Given the description of an element on the screen output the (x, y) to click on. 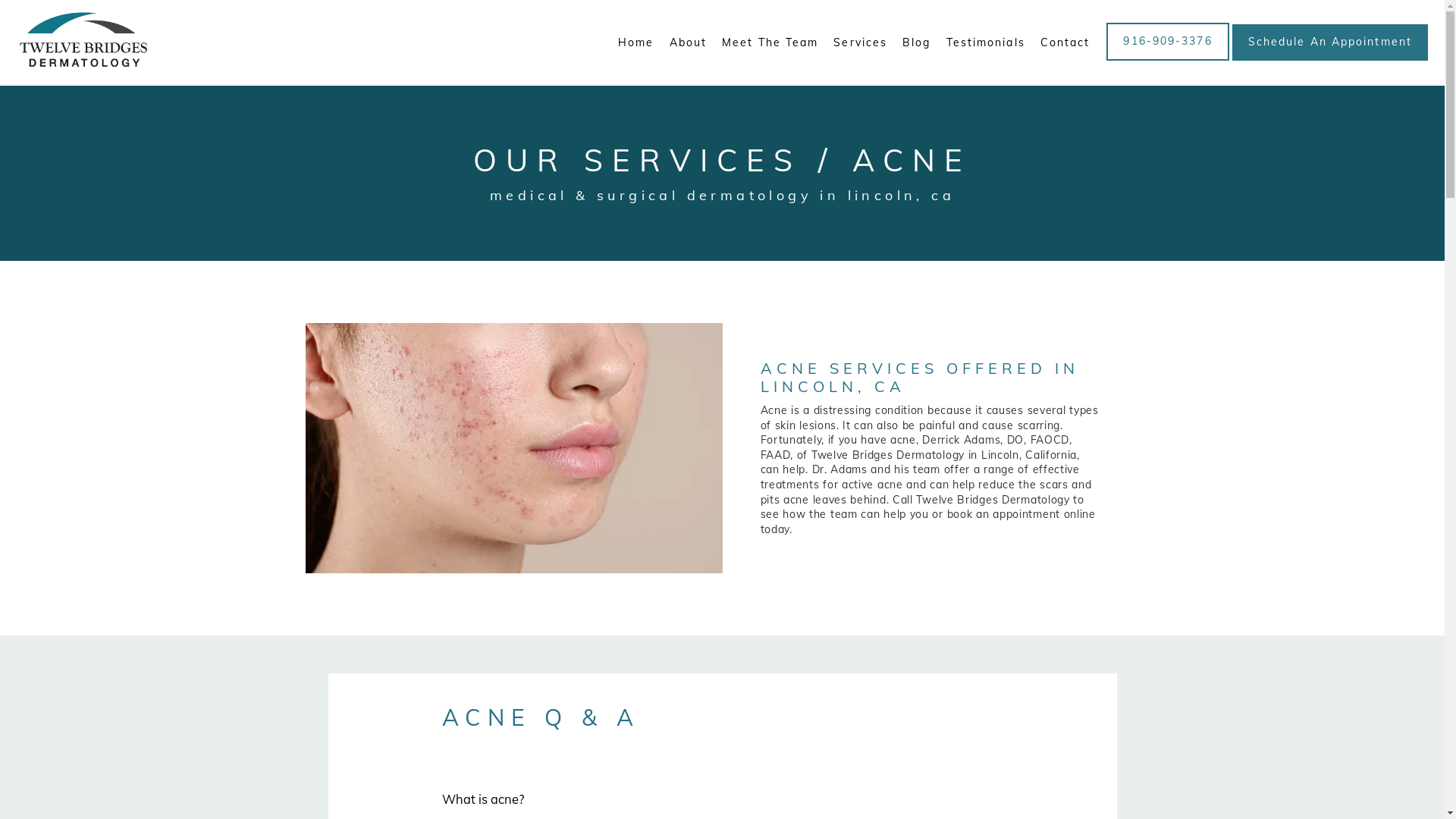
Blog Element type: text (916, 42)
Meet The Team Element type: text (769, 42)
Home Element type: text (635, 42)
Contact Element type: text (1065, 42)
916-909-3376 Element type: text (1167, 58)
Services Element type: text (860, 42)
Testimonials Element type: text (985, 42)
Schedule An Appointment Element type: text (1329, 58)
About Element type: text (688, 42)
